Given the description of an element on the screen output the (x, y) to click on. 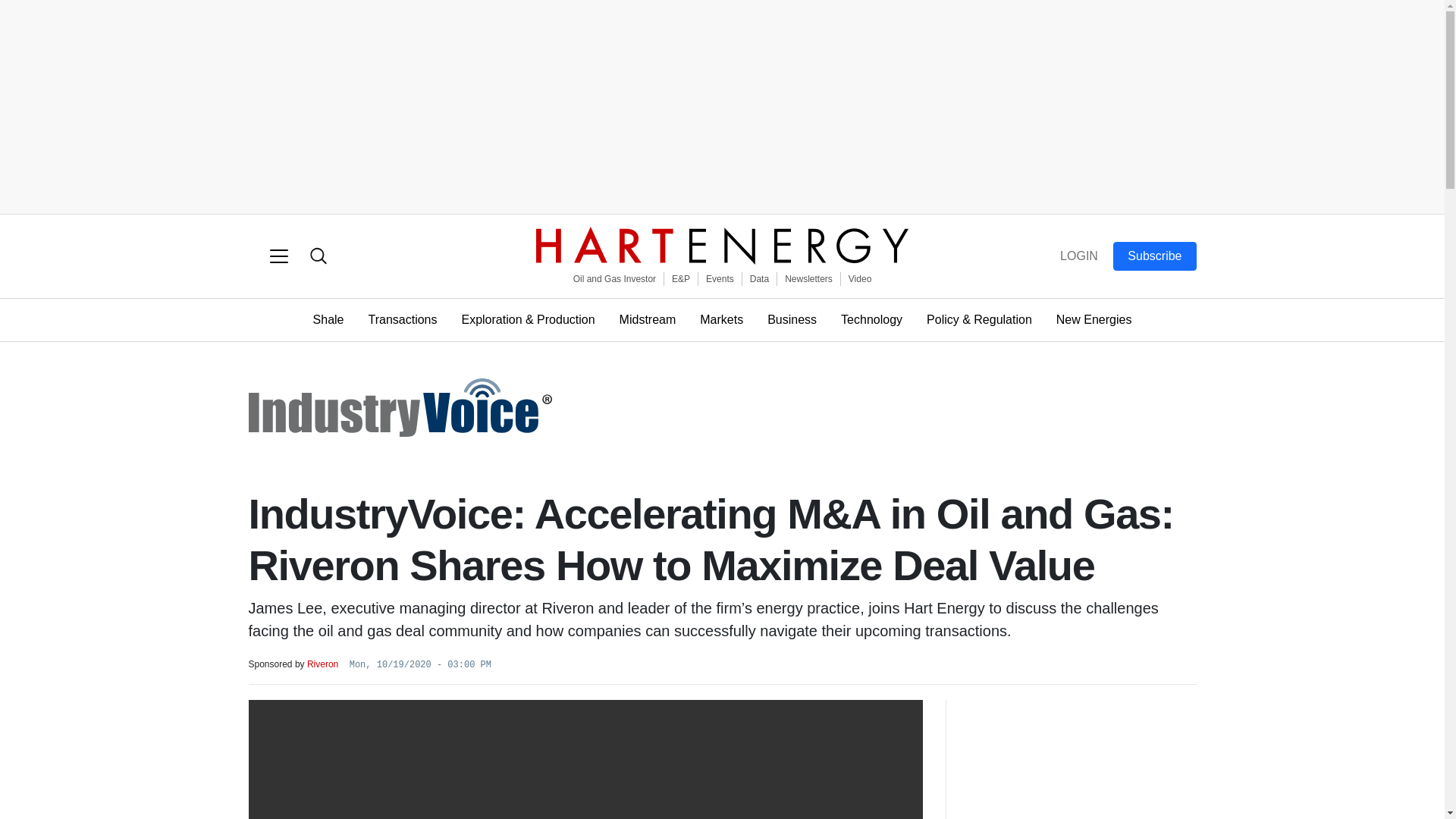
Hart Energy (722, 245)
Search Our Site (317, 256)
